Given the description of an element on the screen output the (x, y) to click on. 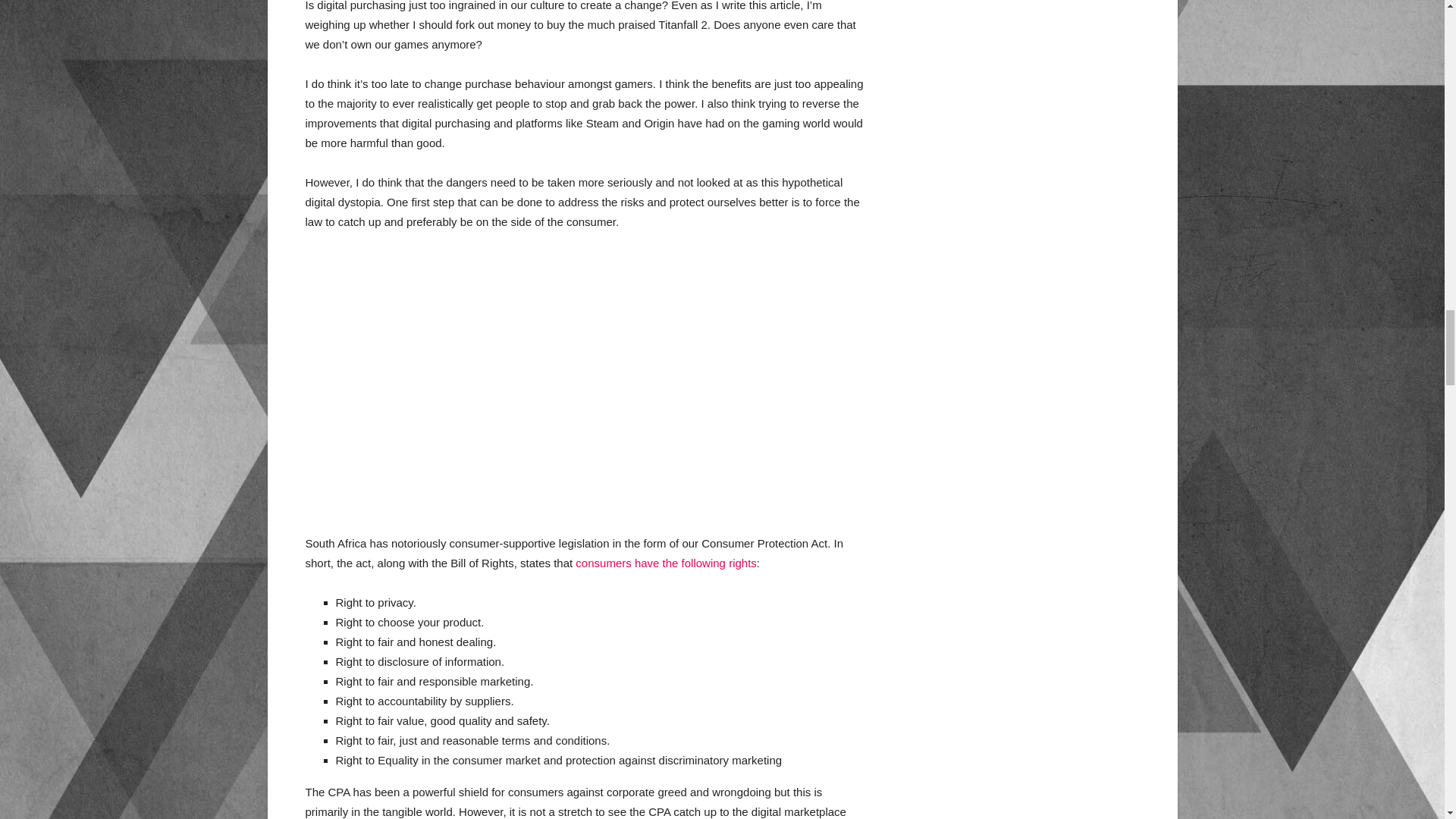
consumers have the following rights (665, 562)
